Given the description of an element on the screen output the (x, y) to click on. 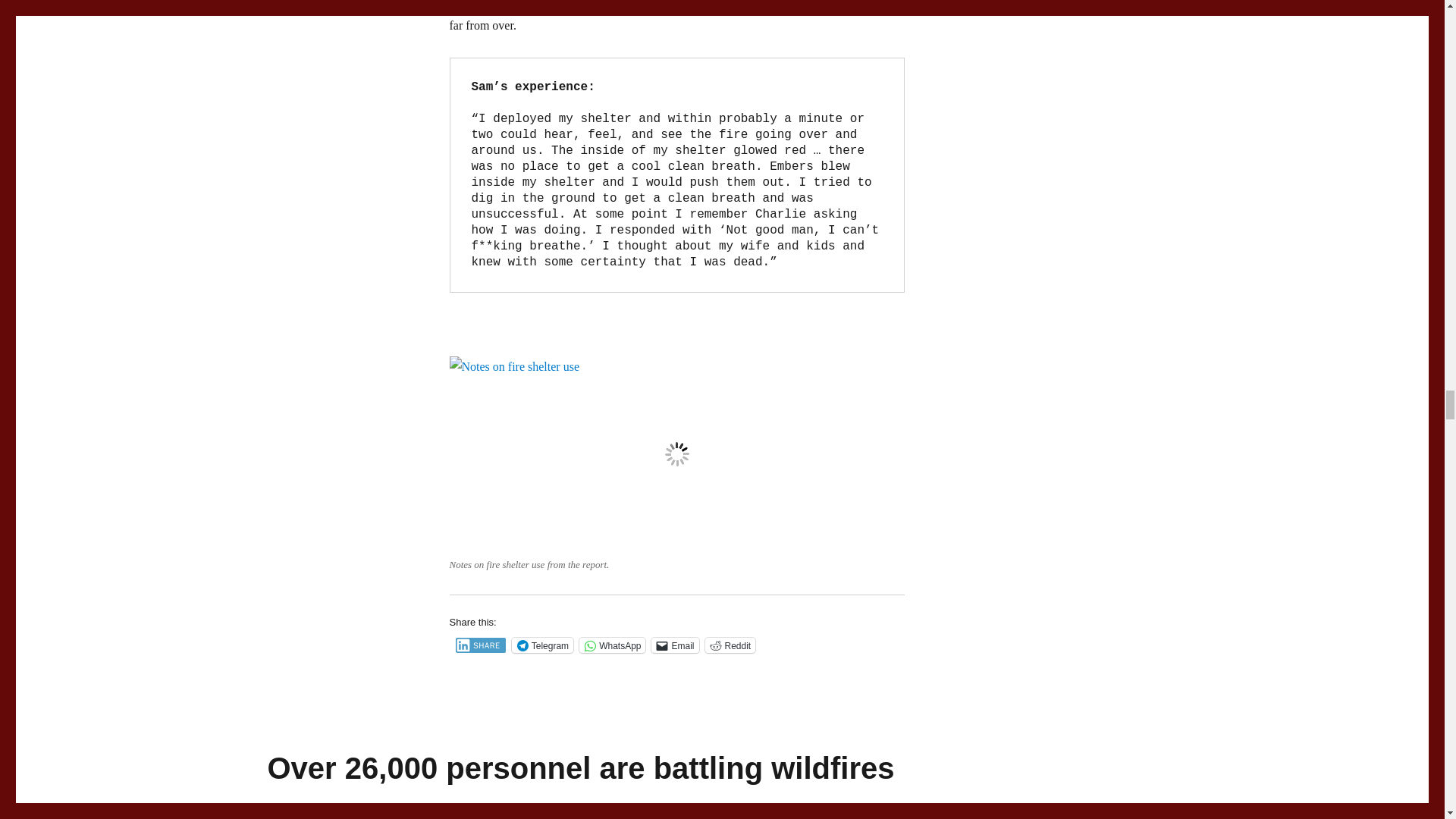
Click to share on Telegram (542, 645)
Click to share on WhatsApp (612, 645)
Click to share on Reddit (729, 645)
Click to email a link to a friend (674, 645)
